Given the description of an element on the screen output the (x, y) to click on. 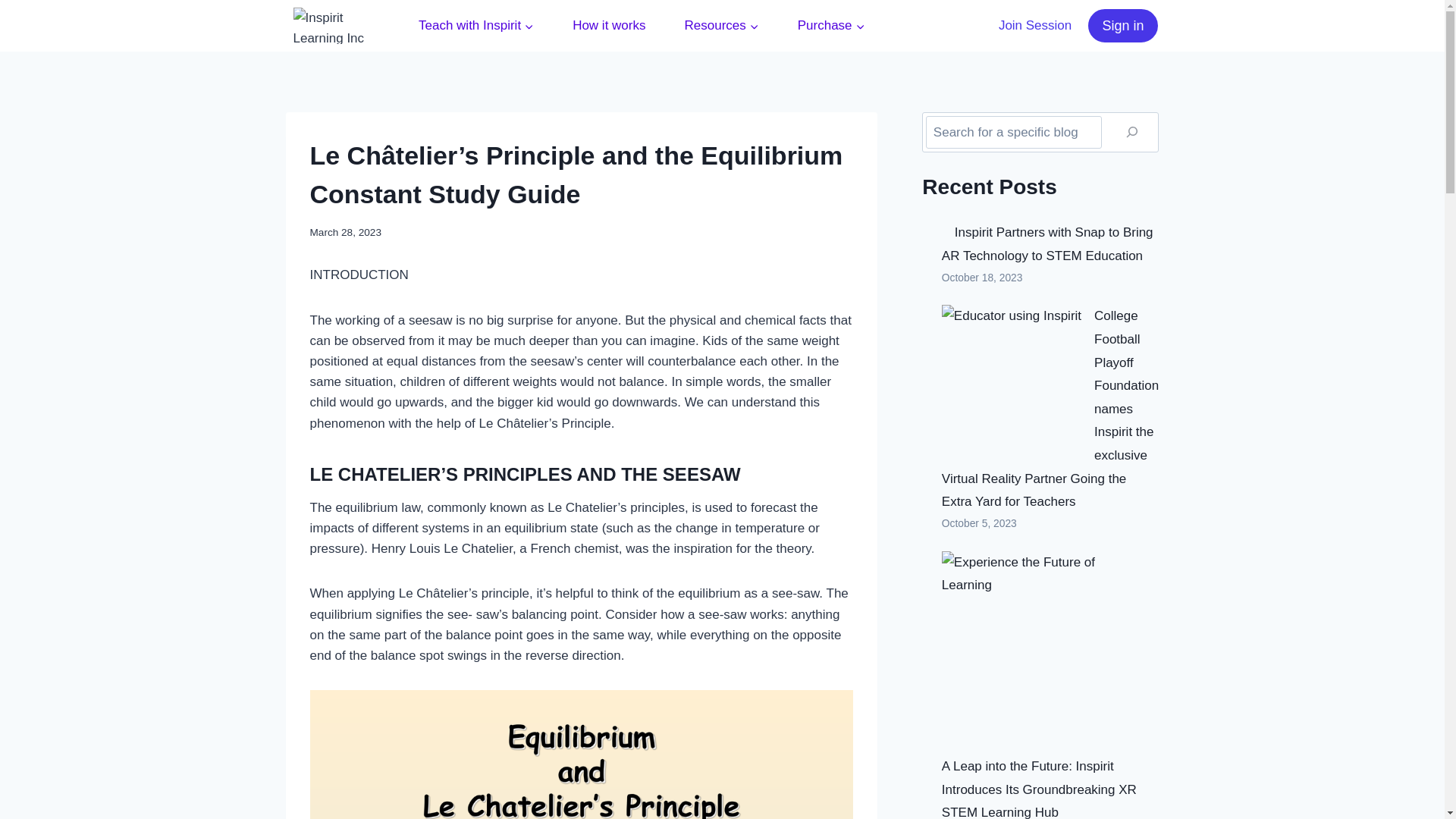
Join Session (1035, 25)
Purchase (830, 25)
How it works (609, 25)
Sign in (1122, 25)
Resources (721, 25)
Teach with Inspirit (475, 25)
